Given the description of an element on the screen output the (x, y) to click on. 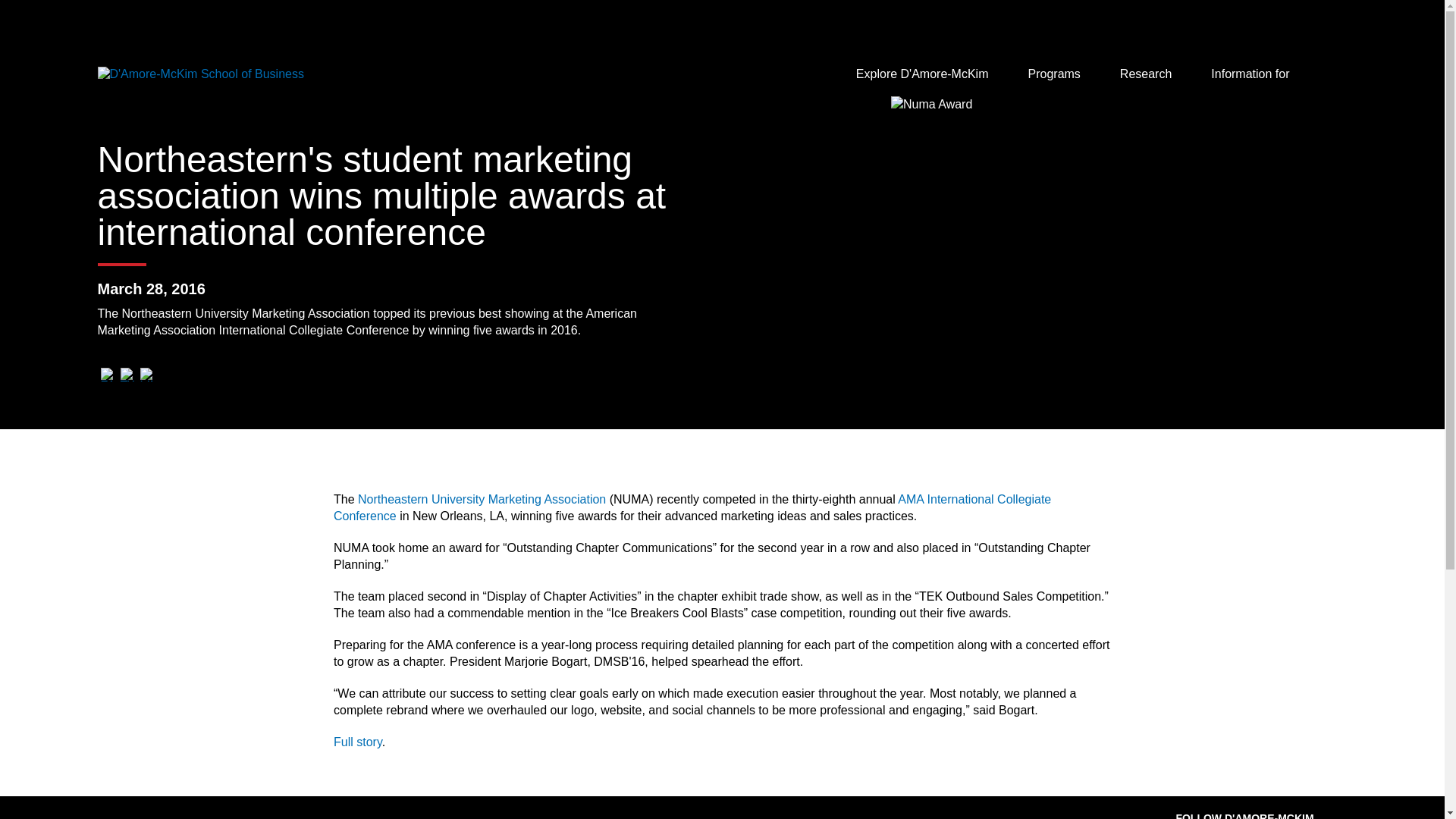
LinkedIn (145, 375)
Facebook (106, 375)
Programs (1059, 73)
Twitter (126, 375)
Explore D'Amore-McKim (927, 73)
